Given the description of an element on the screen output the (x, y) to click on. 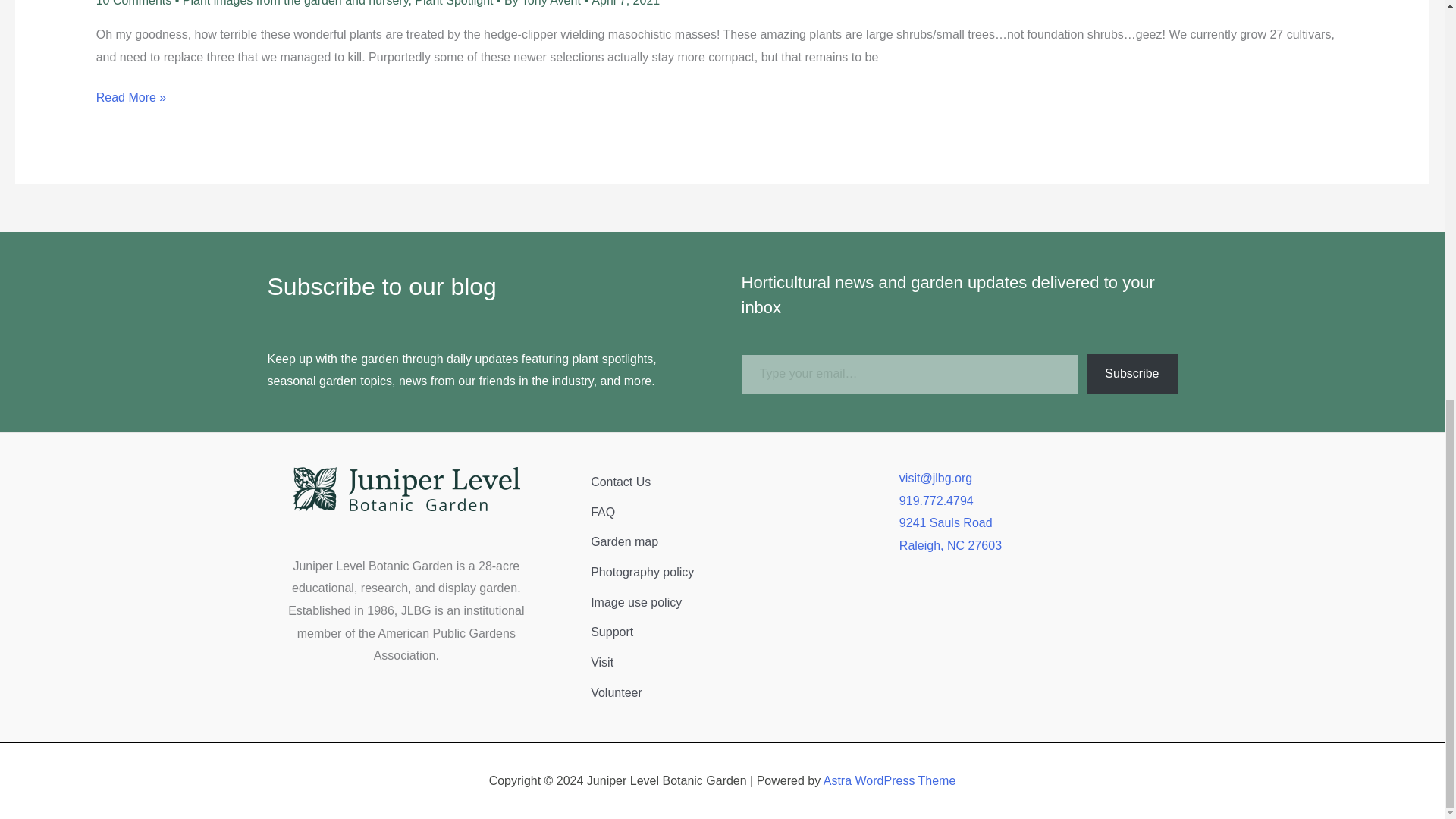
Open address in Google Maps (1038, 533)
View all posts by Tony Avent (552, 3)
Please fill in this field. (910, 373)
